Given the description of an element on the screen output the (x, y) to click on. 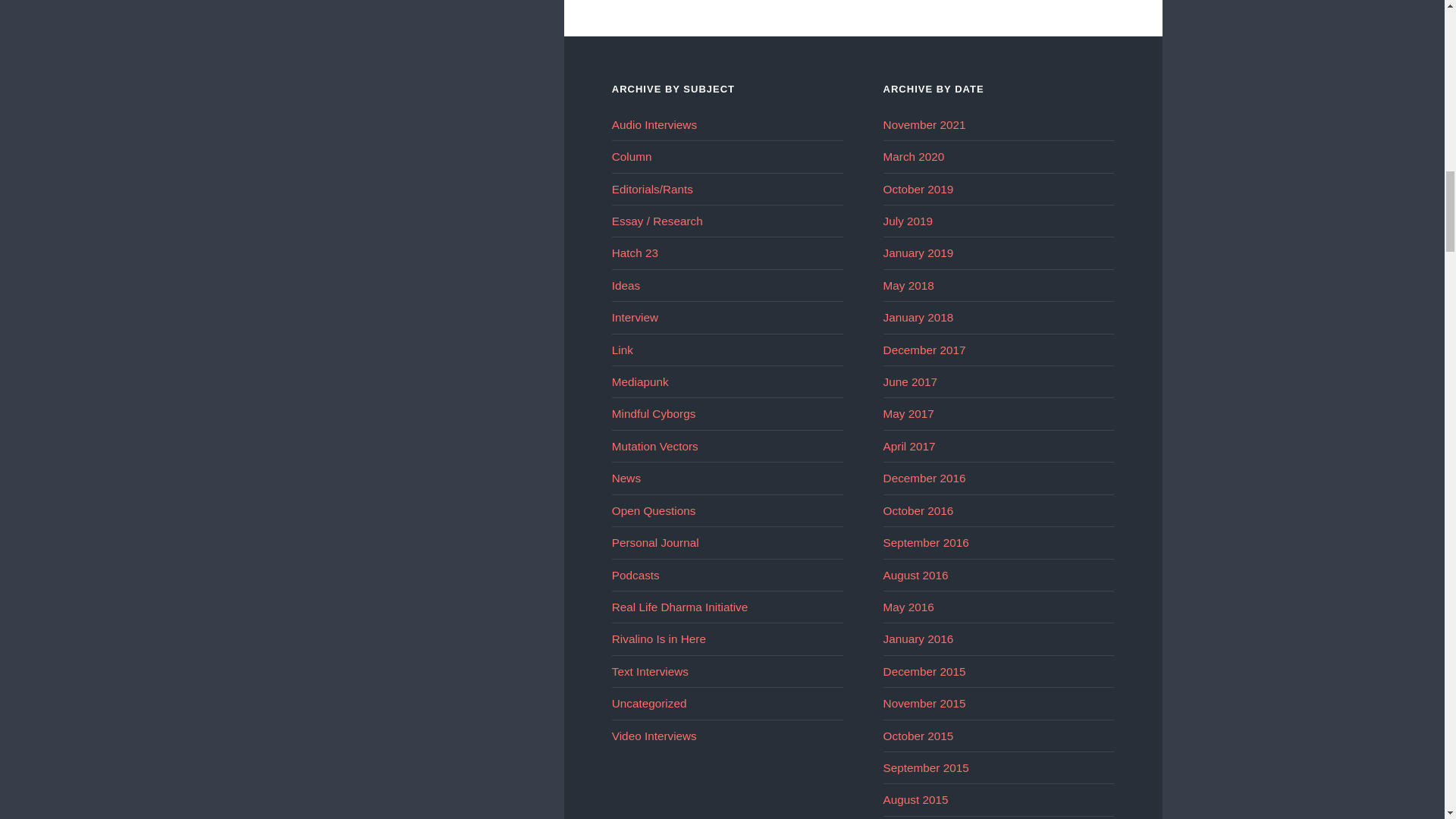
Column (631, 155)
Interview (634, 317)
Mutation Vectors (654, 445)
Mindful Cyborgs (653, 413)
Hatch 23 (634, 252)
Audio Interviews (654, 124)
Ideas (625, 285)
Link (622, 349)
Mediapunk (639, 381)
